Given the description of an element on the screen output the (x, y) to click on. 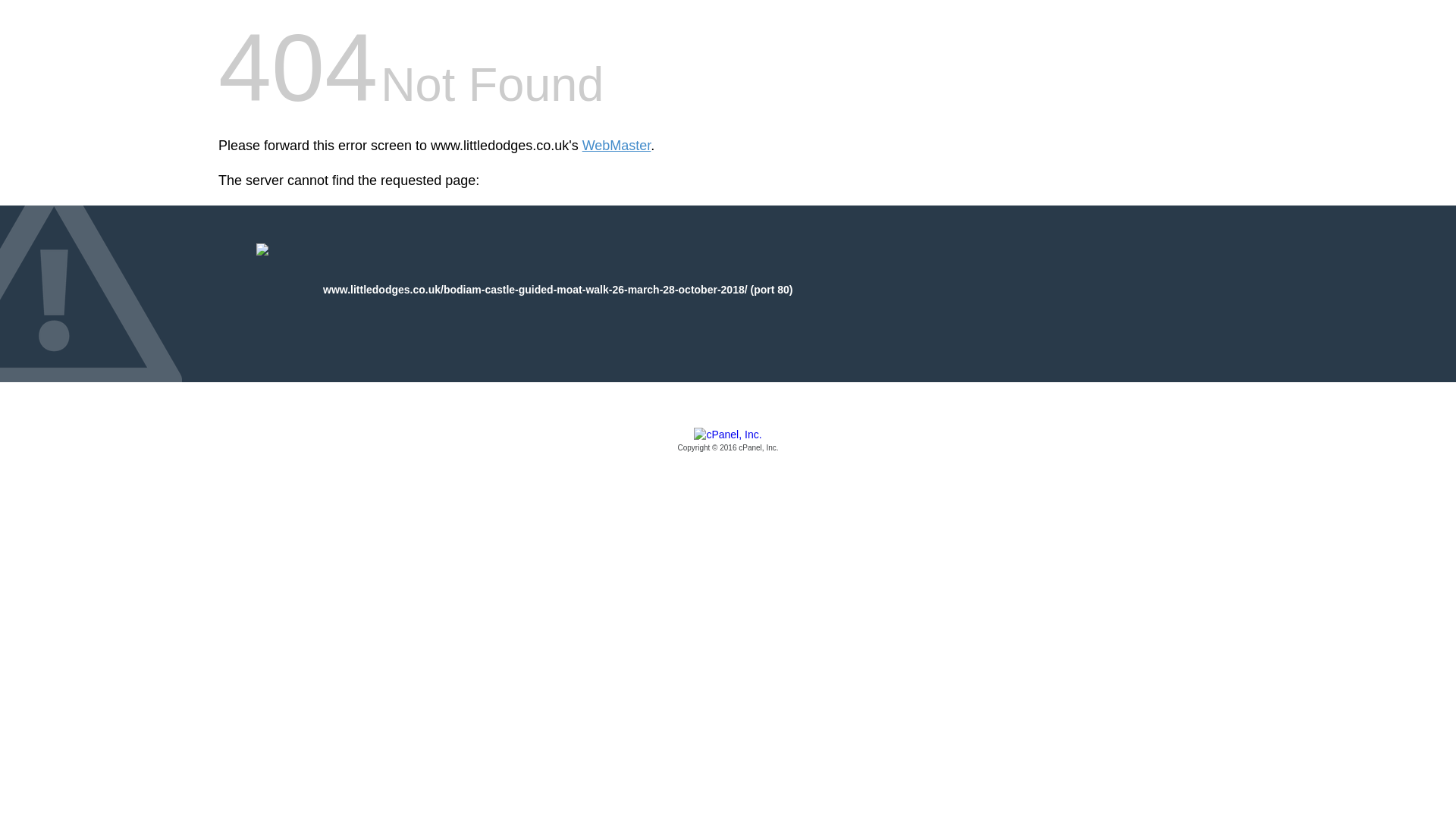
cPanel, Inc. (727, 440)
WebMaster (616, 145)
